Given the description of an element on the screen output the (x, y) to click on. 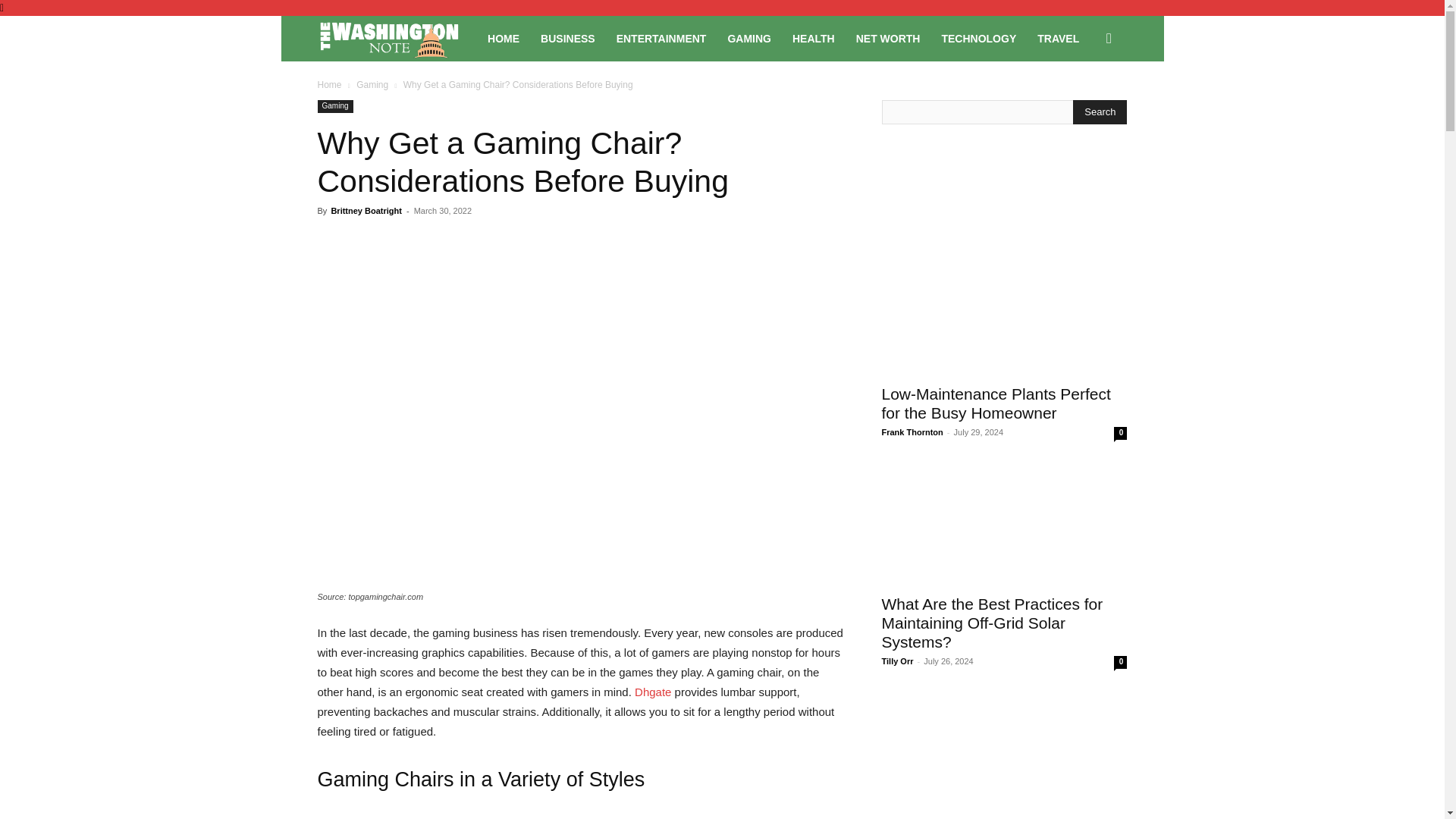
View all posts in Gaming (372, 84)
Low-Maintenance Plants Perfect for the Busy Homeowner (1003, 313)
GAMING (748, 38)
HEALTH (813, 38)
Home (328, 84)
Low-Maintenance Plants Perfect for the Busy Homeowner (994, 402)
HOME (503, 38)
Gaming (334, 106)
Dhgate (652, 691)
NET WORTH (888, 38)
Gaming (372, 84)
TECHNOLOGY (978, 38)
Search (1099, 111)
TRAVEL (1057, 38)
Brittney Boatright (365, 210)
